Given the description of an element on the screen output the (x, y) to click on. 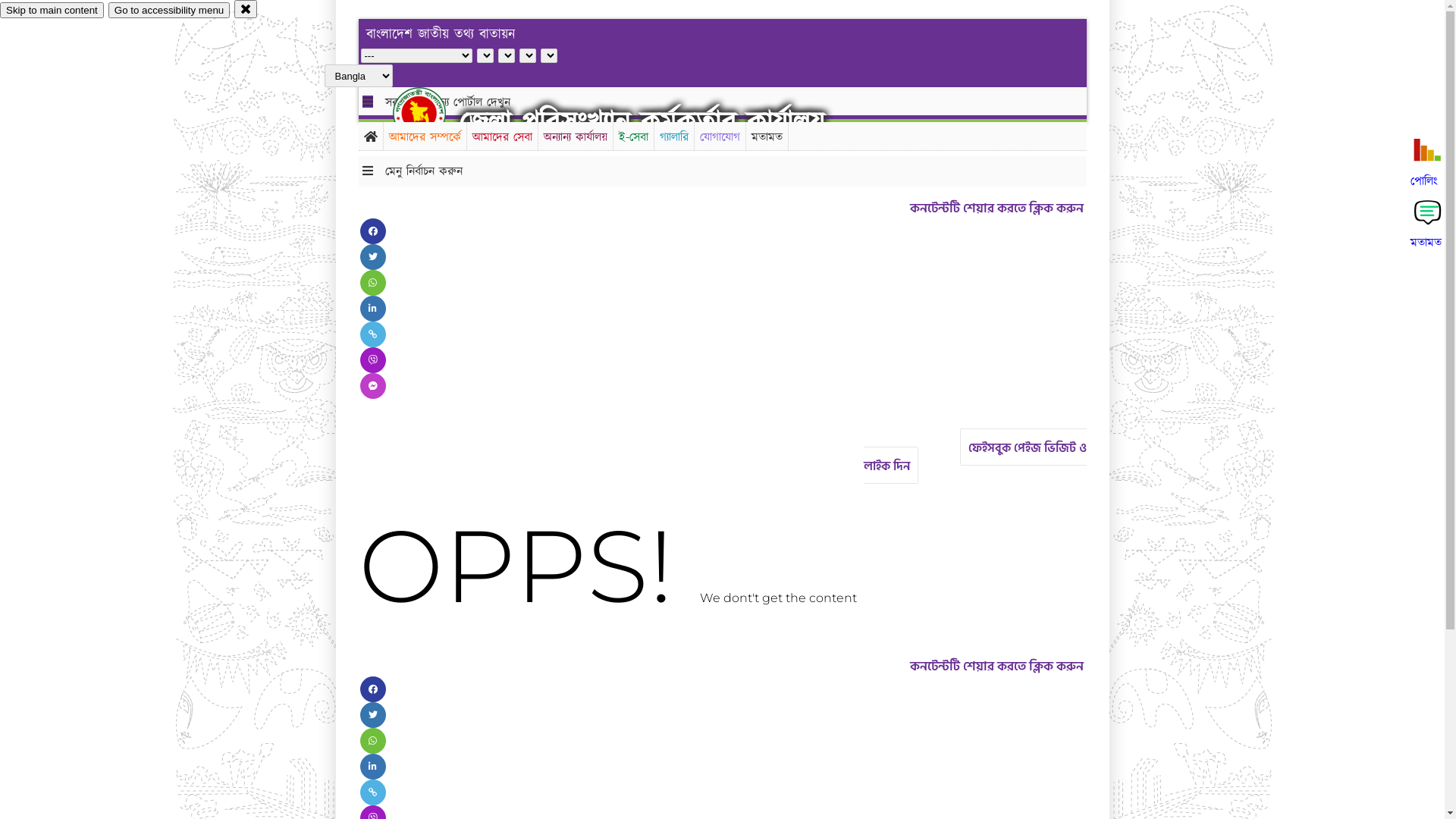
Skip to main content Element type: text (51, 10)

                
             Element type: hover (431, 112)
Go to accessibility menu Element type: text (168, 10)
close Element type: hover (245, 9)
